Given the description of an element on the screen output the (x, y) to click on. 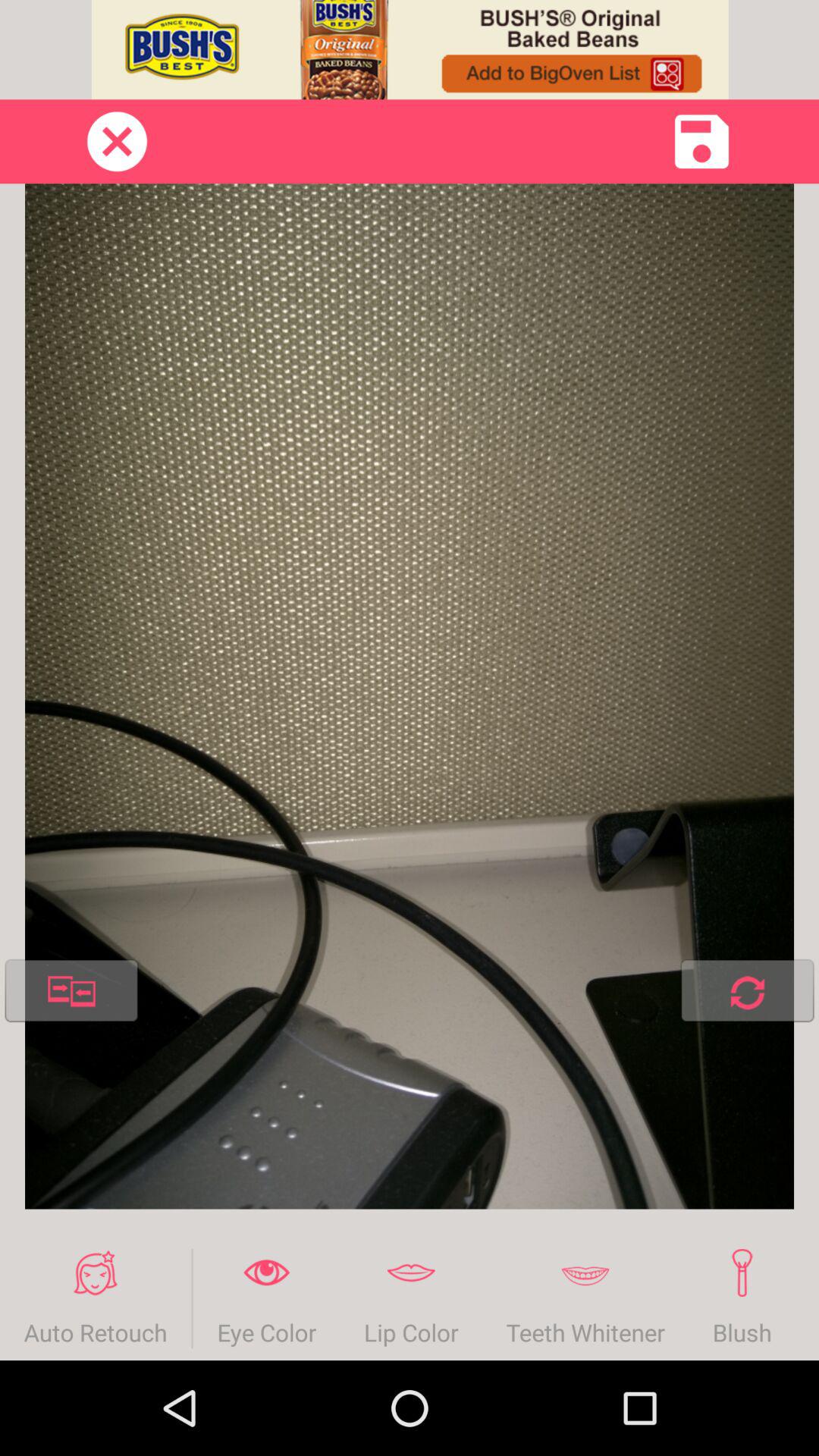
choose the item to the right of the blush icon (807, 1298)
